Given the description of an element on the screen output the (x, y) to click on. 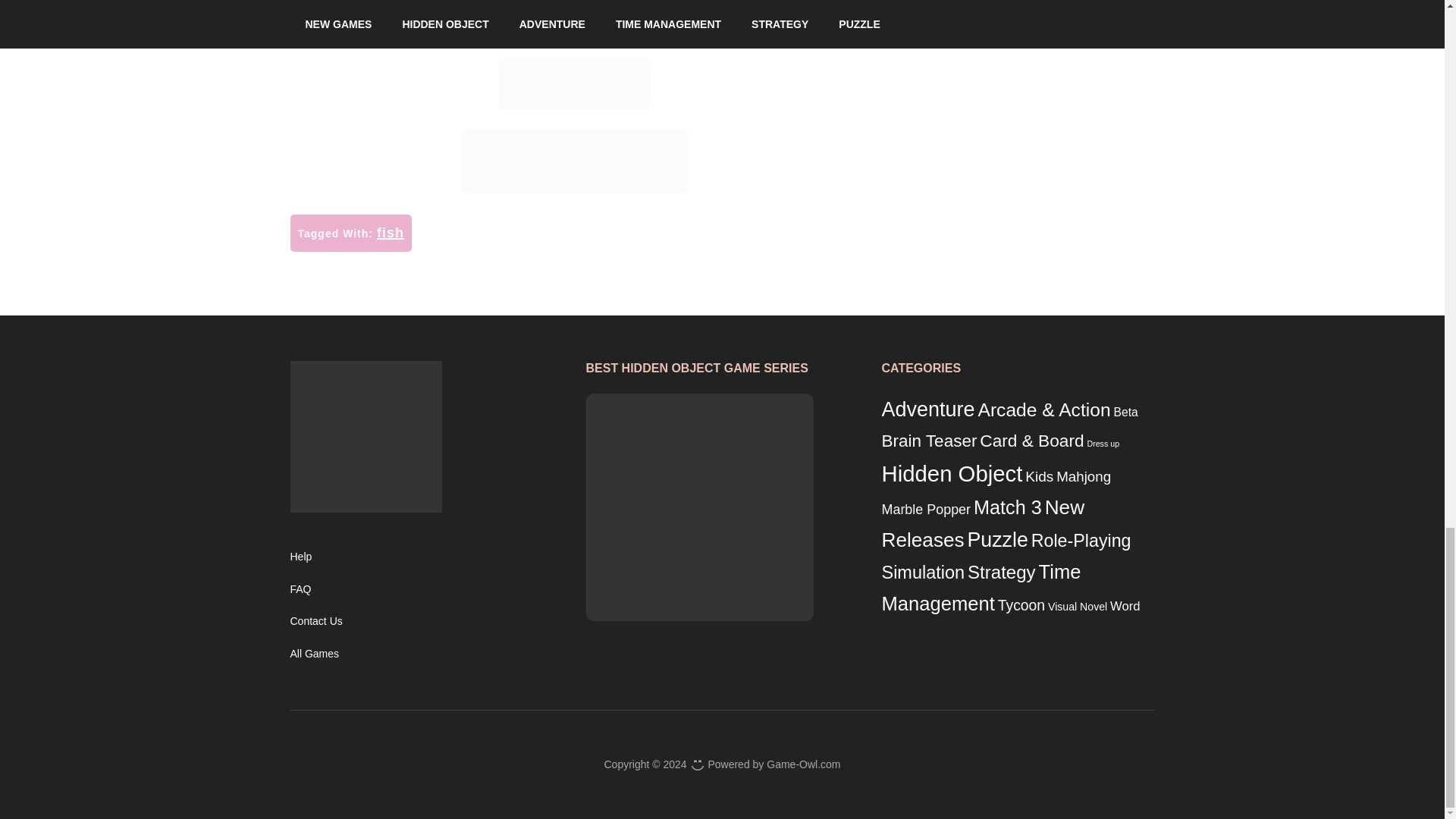
Adventure (927, 409)
All Games (314, 653)
fish (390, 232)
Contact Us (315, 621)
FAQ (300, 588)
Help (300, 556)
